Given the description of an element on the screen output the (x, y) to click on. 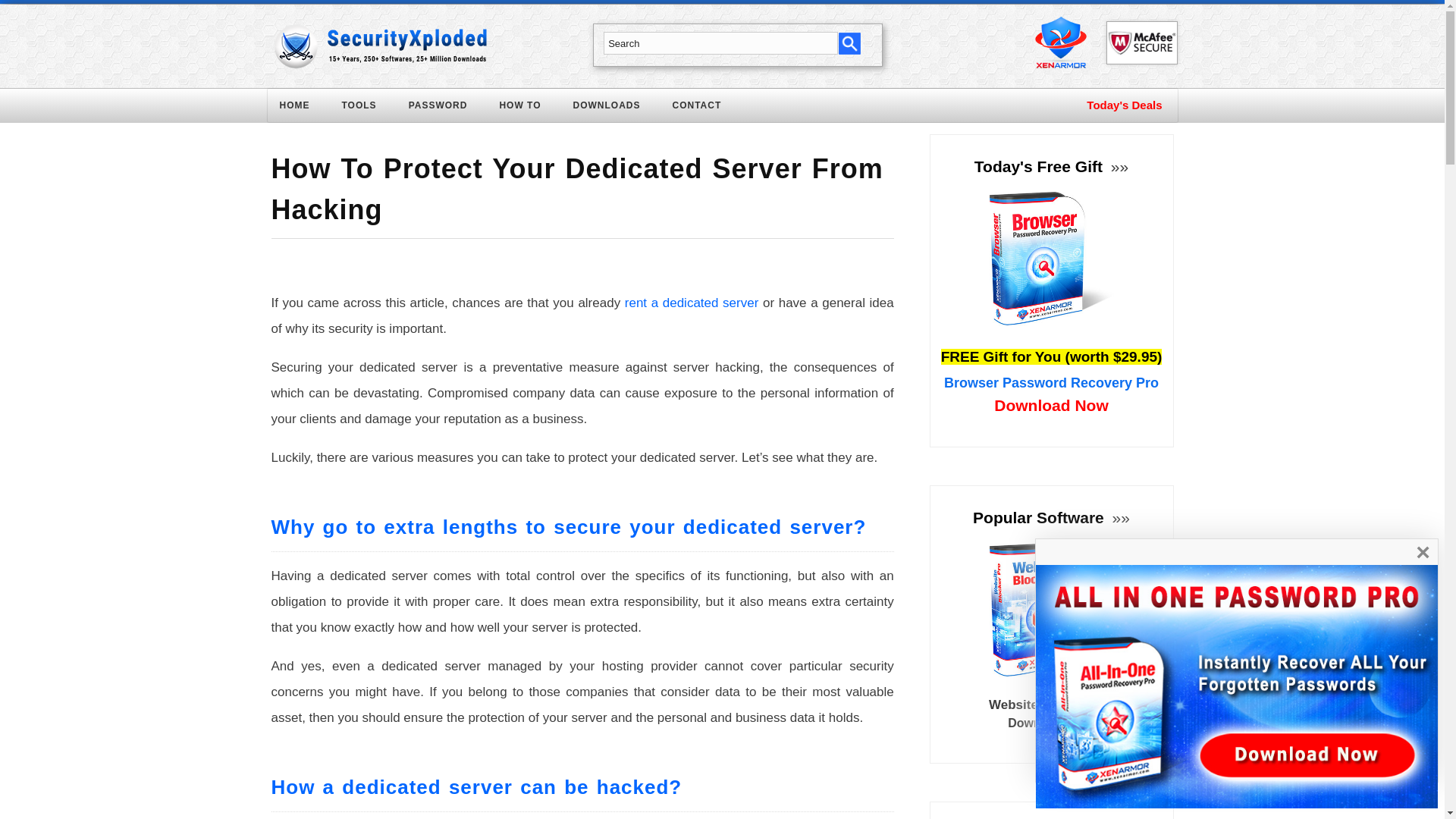
See More... (1118, 517)
HOME (304, 108)
DOWNLOADS (616, 108)
search (849, 42)
HOW TO (529, 108)
rent a dedicated server (691, 302)
CONTACT (706, 108)
TOOLS (367, 108)
Search (721, 42)
PASSWORD (447, 108)
See More... (1117, 166)
Safe Rating by Mcafee Secure (1140, 42)
